Given the description of an element on the screen output the (x, y) to click on. 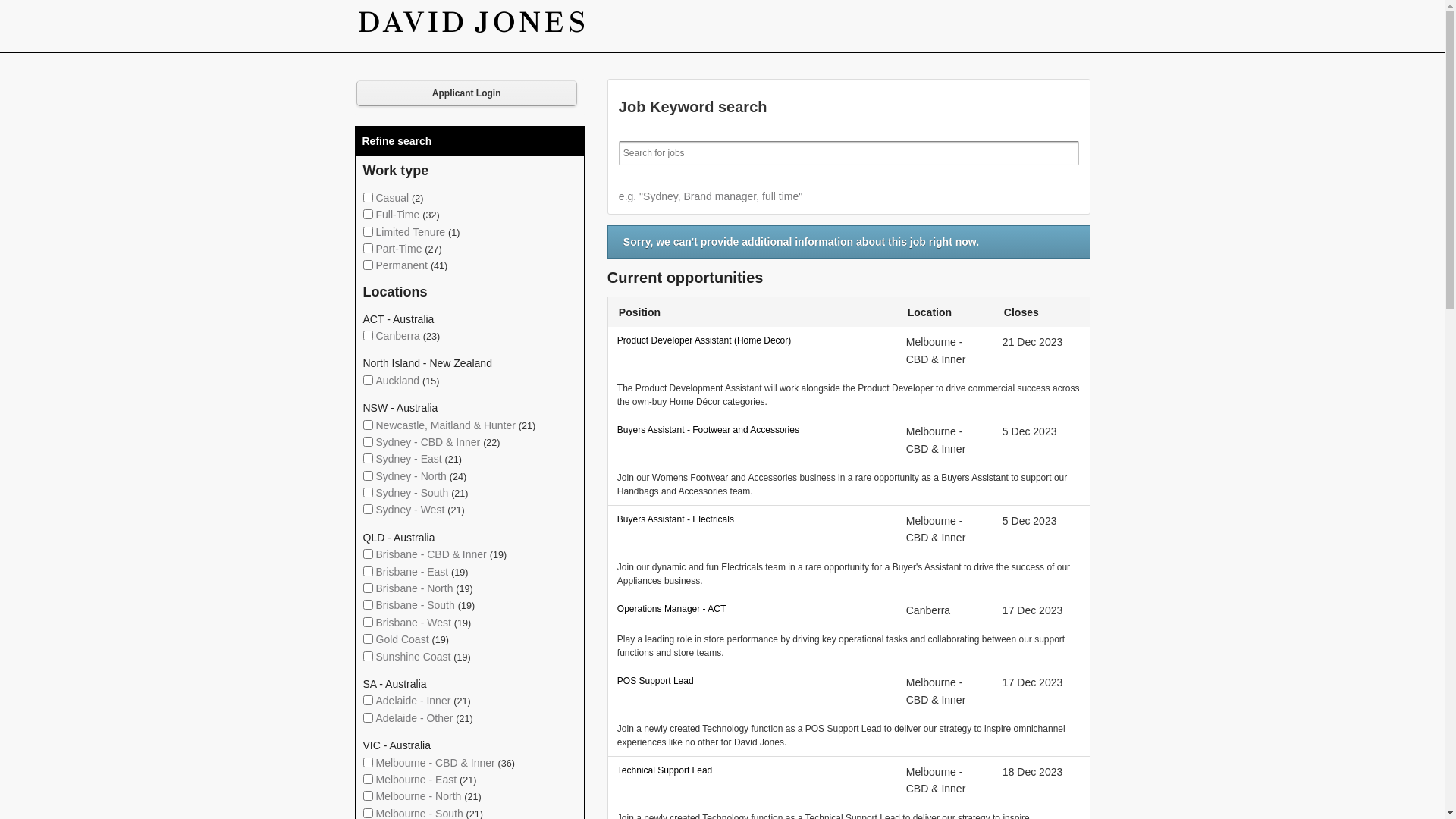
Operations Manager - ACT Element type: text (752, 608)
Buyers Assistant - Footwear and Accessories Element type: text (752, 429)
POS Support Lead Element type: text (752, 680)
Product Developer Assistant (Home Decor) Element type: text (752, 340)
Applicant Login Element type: text (466, 93)
Buyers Assistant - Electricals Element type: text (752, 519)
Technical Support Lead Element type: text (752, 770)
